Given the description of an element on the screen output the (x, y) to click on. 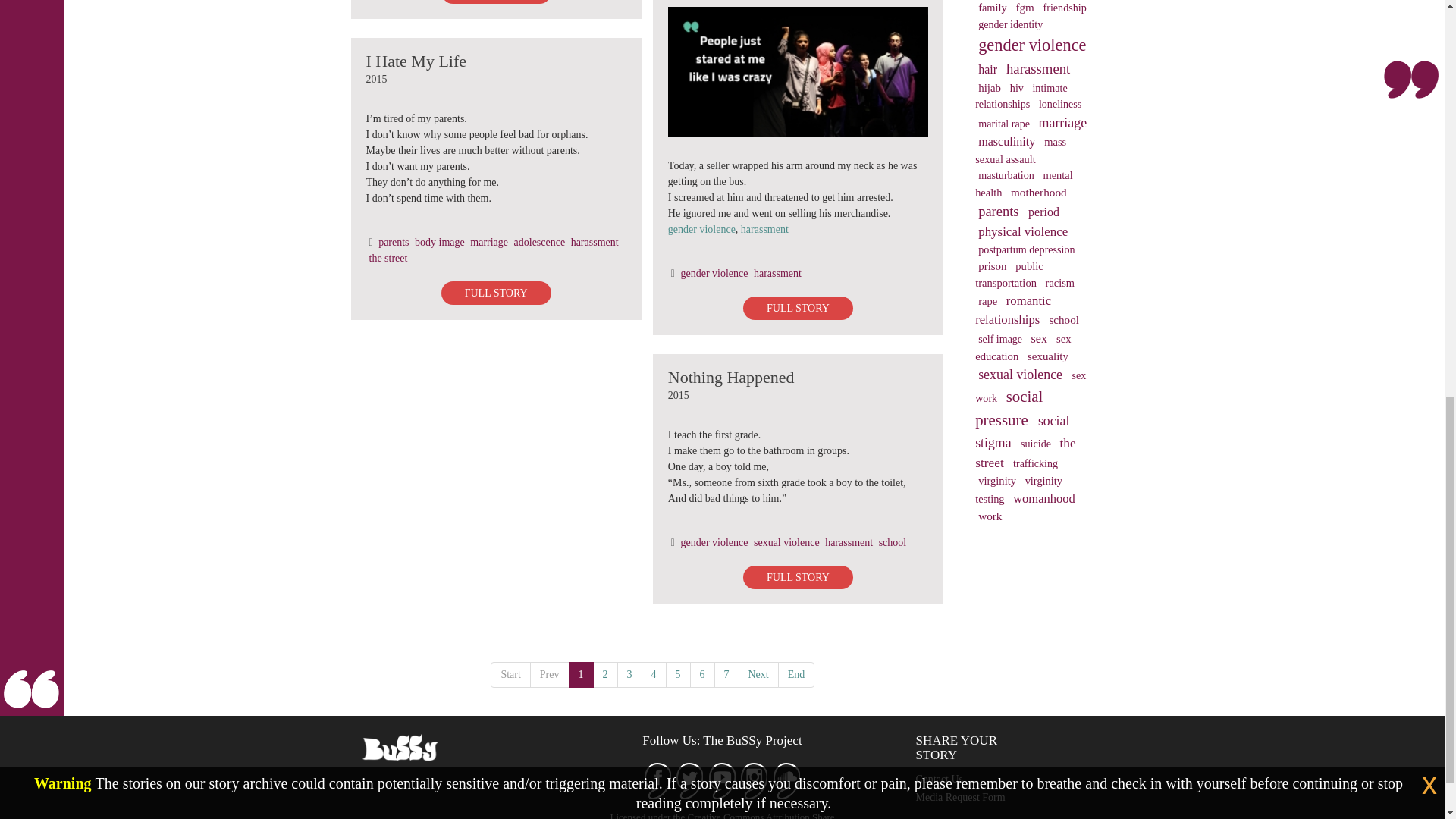
End (796, 674)
2 (604, 674)
5 (677, 674)
Next (758, 674)
Like I Was Crazy (798, 71)
4 (654, 674)
7 (726, 674)
3 (629, 674)
6 (702, 674)
